Given the description of an element on the screen output the (x, y) to click on. 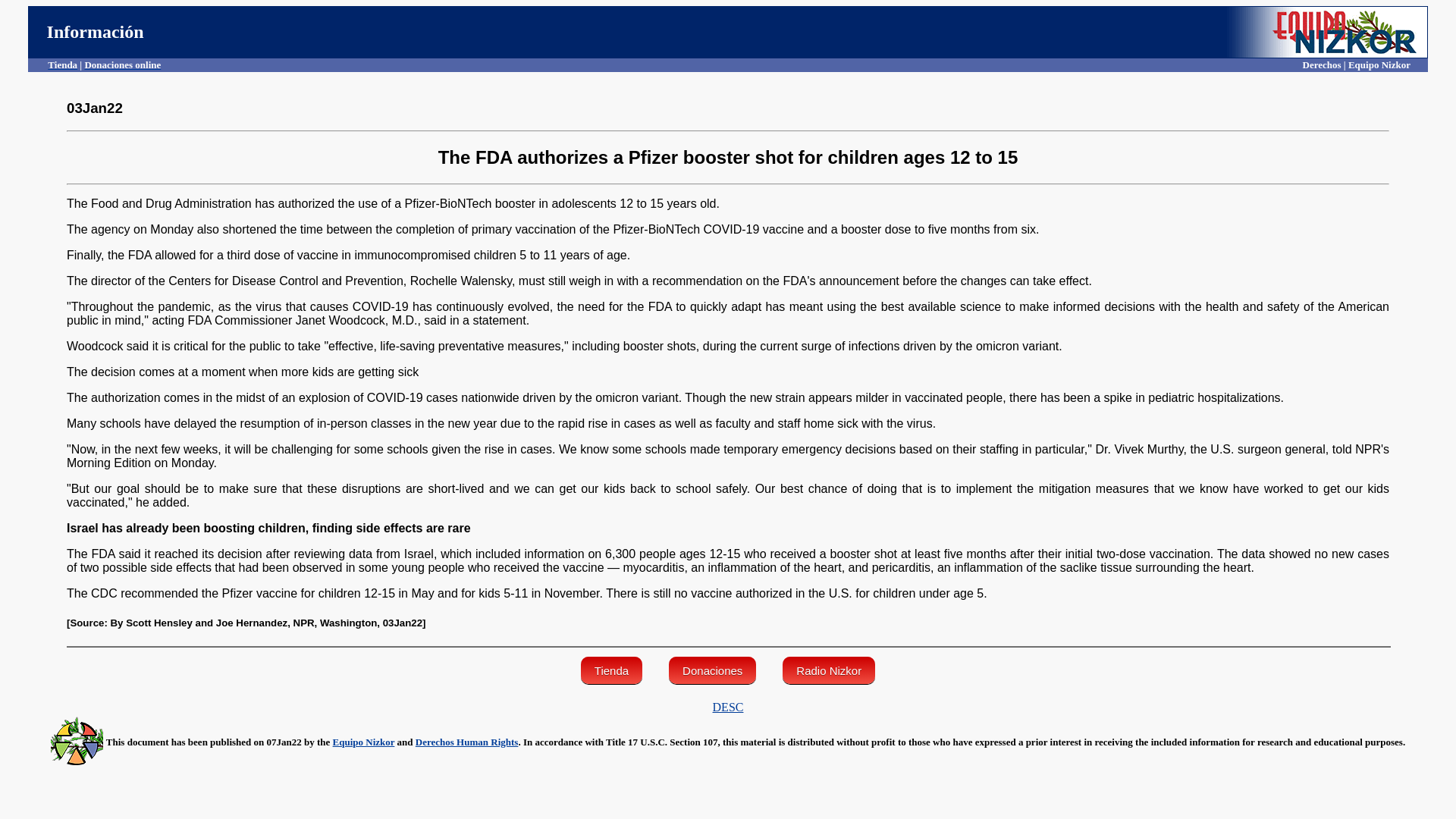
Derechos Human Rights (466, 741)
Donaciones online (122, 64)
Tienda (62, 64)
Donaciones (711, 669)
Radio Nizkor (829, 669)
Tienda (611, 669)
Equipo Nizkor (363, 741)
DESC (728, 707)
